Given the description of an element on the screen output the (x, y) to click on. 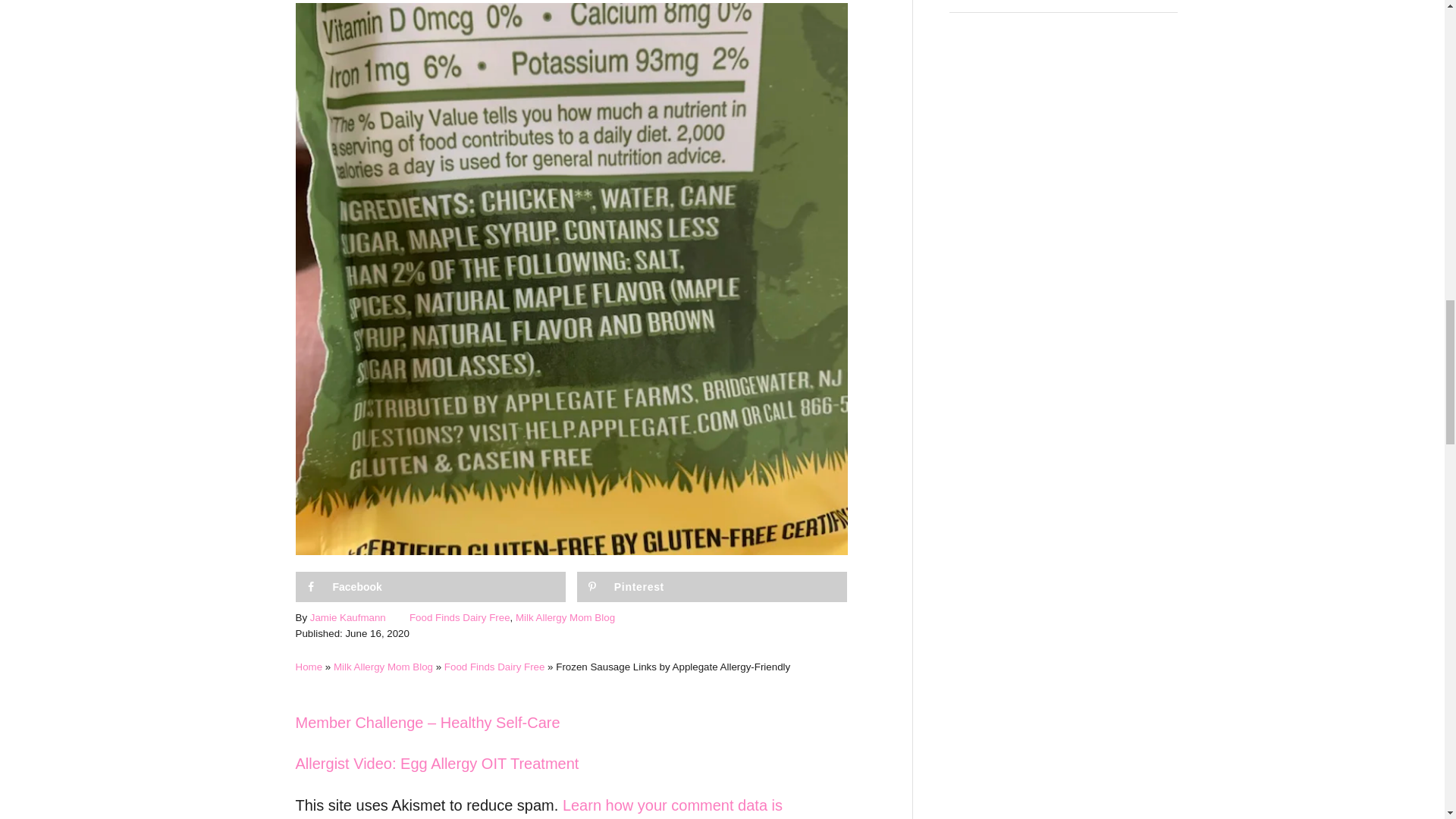
Share on Facebook (430, 586)
Save to Pinterest (711, 586)
